Given the description of an element on the screen output the (x, y) to click on. 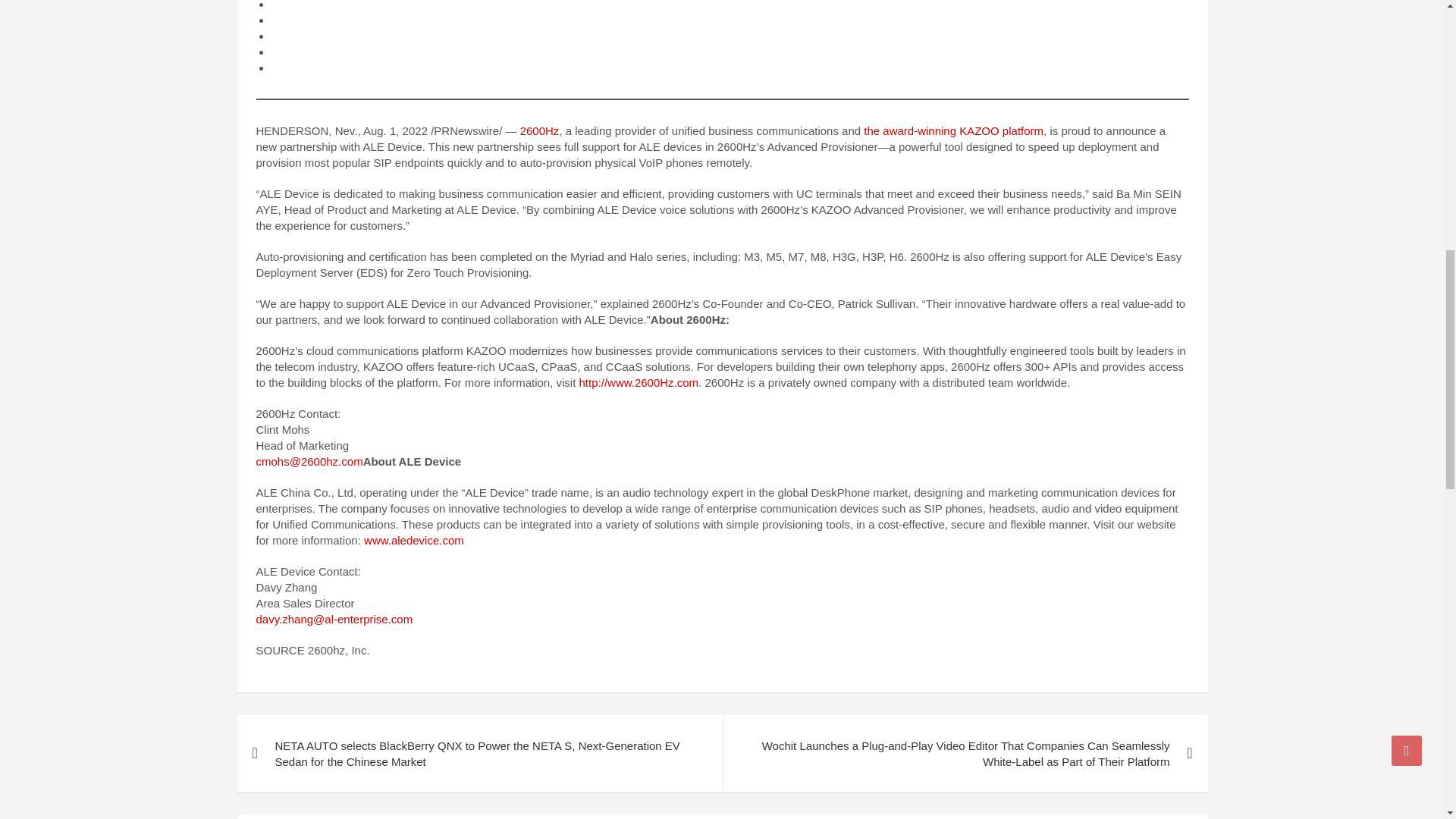
the award-winning KAZOO platform (953, 130)
2600Hz (539, 130)
www.aledevice.com (414, 540)
